Given the description of an element on the screen output the (x, y) to click on. 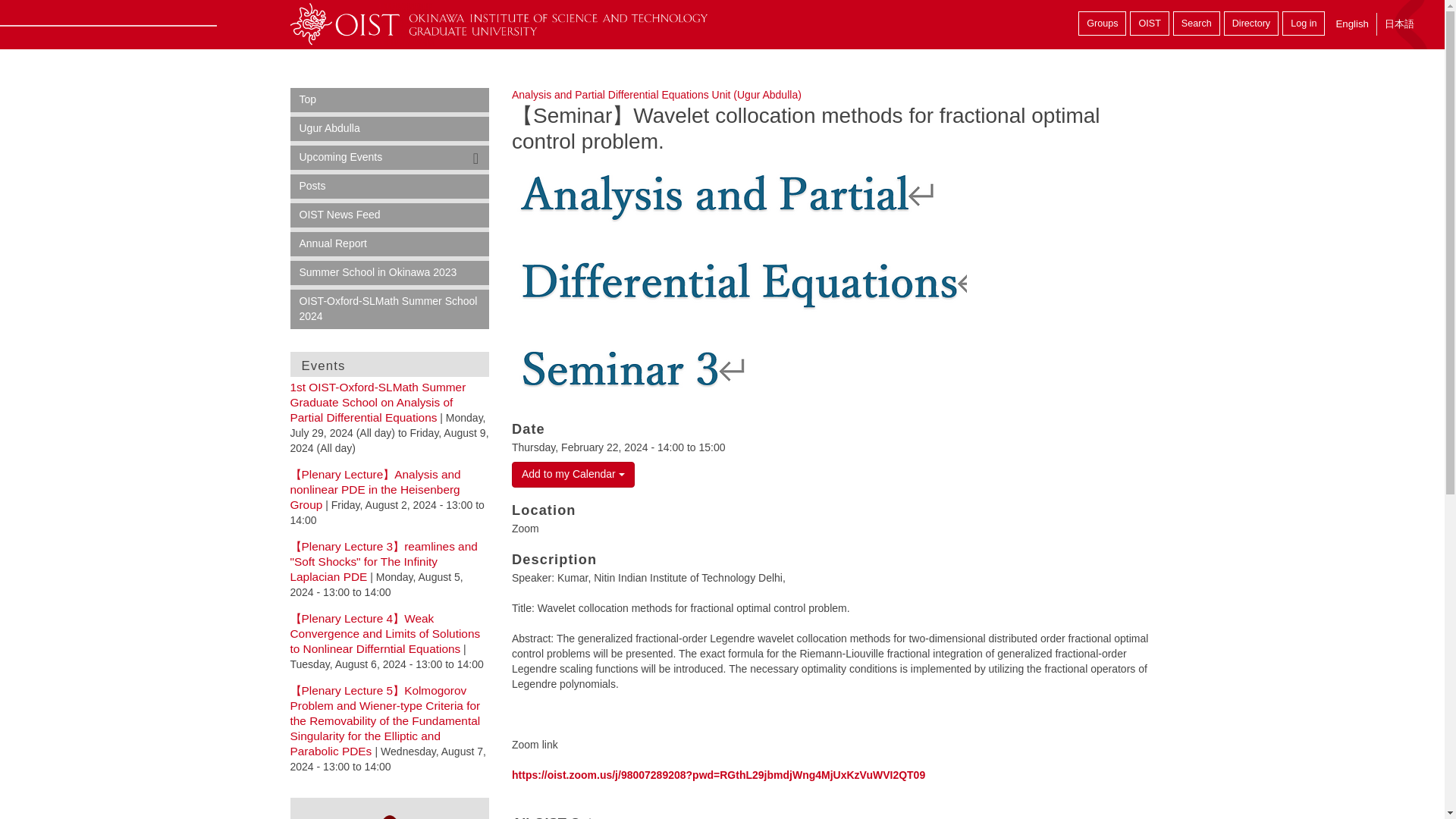
Upcoming Events (389, 157)
English (1351, 24)
Directory (1251, 23)
Summer School in Okinawa 2023 (389, 273)
Posts (389, 186)
Top (389, 99)
Add to my Calendar (573, 474)
Groups (1101, 23)
OIST News Feed (389, 215)
Subscription to OIST Newsletter (389, 814)
OIST (1149, 23)
Search (1196, 23)
Ugur Abdulla (389, 128)
Annual Report (389, 243)
